Given the description of an element on the screen output the (x, y) to click on. 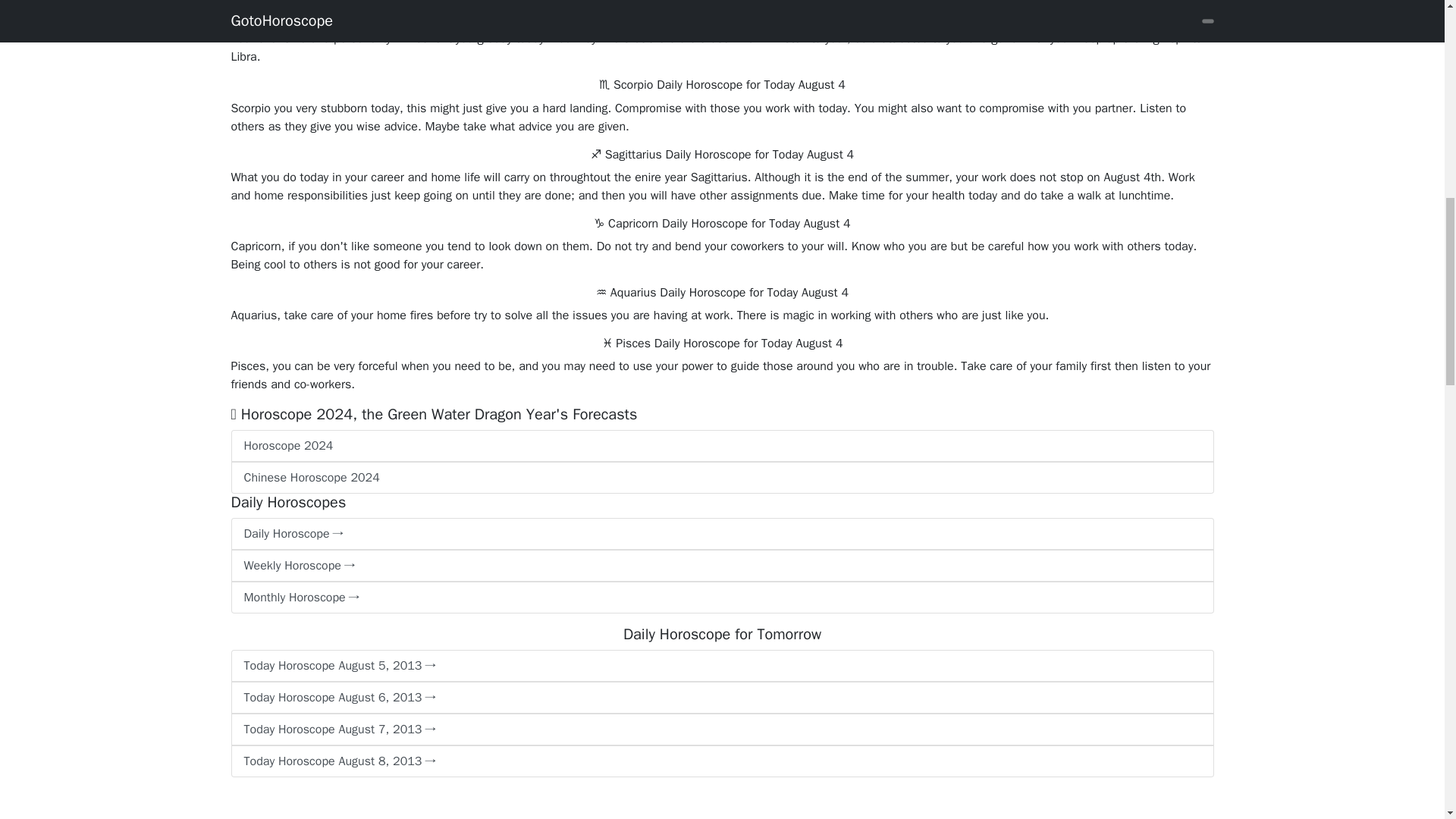
Today Horoscope August 5, 2013 (721, 665)
Today Horoscope August 8, 2013 (721, 761)
Horoscope 2024 (721, 445)
Weekly Horoscope (721, 565)
Advertisement (455, 804)
Today Horoscope August 7, 2013 (721, 729)
Daily Horoscope (721, 533)
Monthly Horoscope (721, 597)
Chinese Horoscope 2024 (721, 477)
Today Horoscope August 6, 2013 (721, 697)
